Given the description of an element on the screen output the (x, y) to click on. 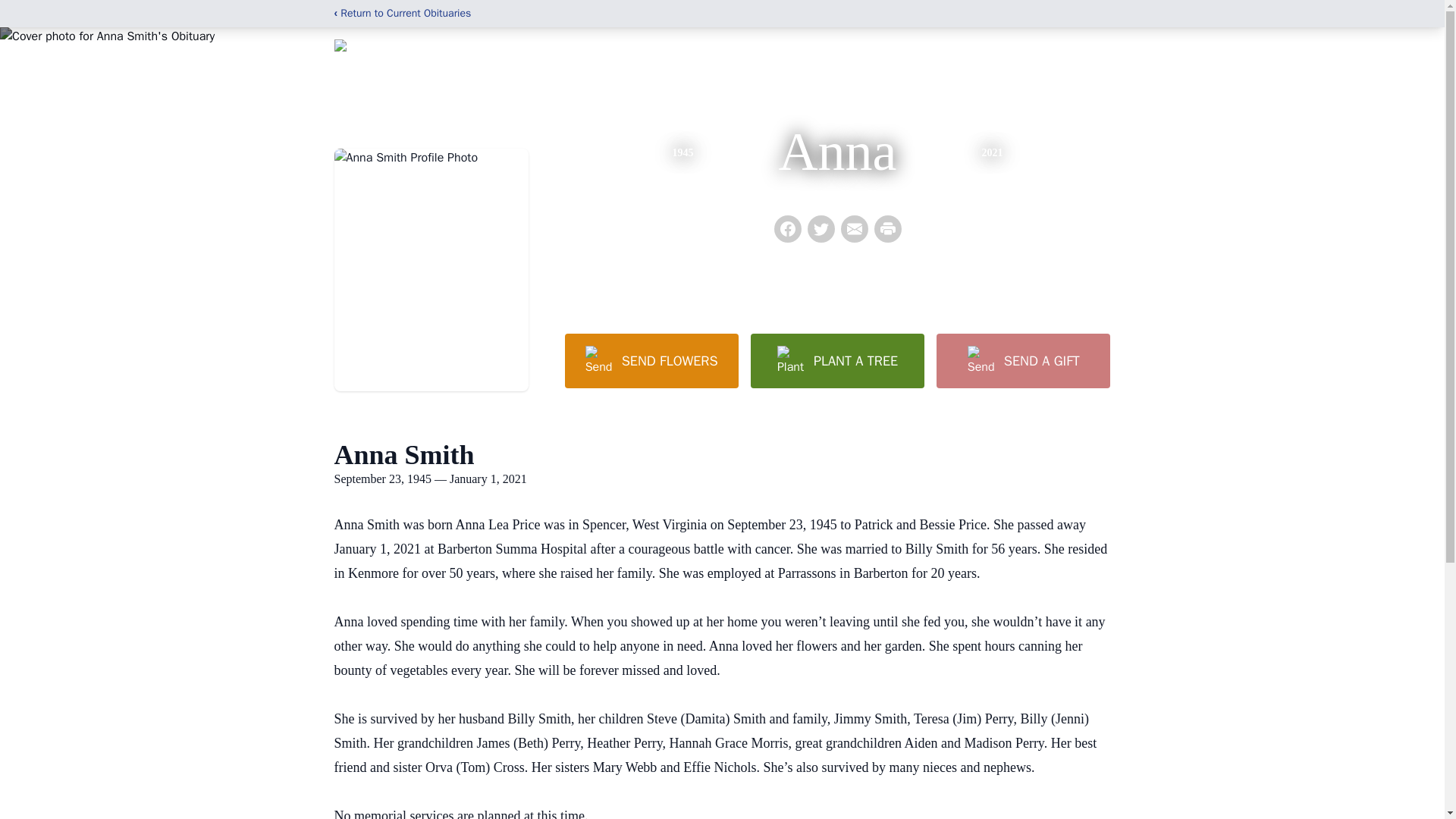
SEND FLOWERS (651, 360)
PLANT A TREE (837, 360)
SEND A GIFT (1022, 360)
